Given the description of an element on the screen output the (x, y) to click on. 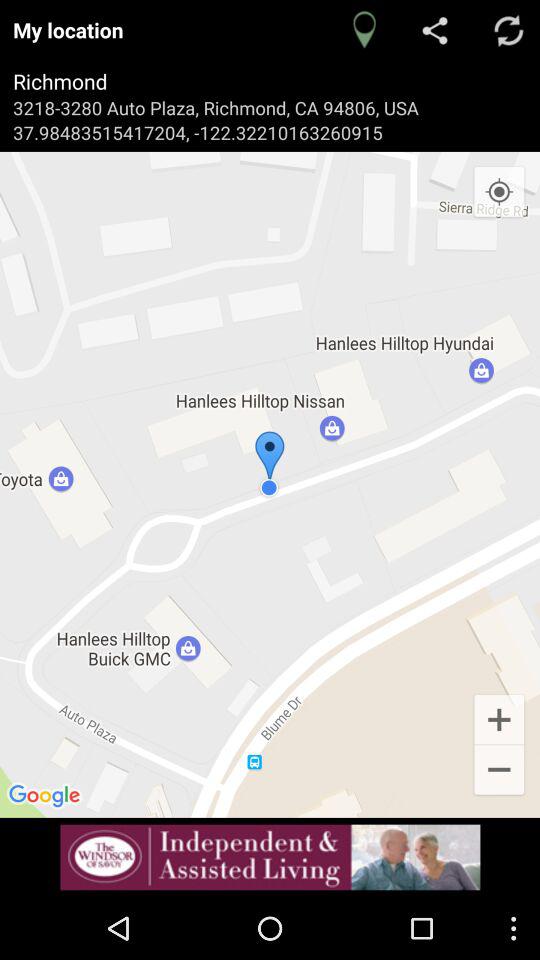
click advertisement (270, 857)
